Given the description of an element on the screen output the (x, y) to click on. 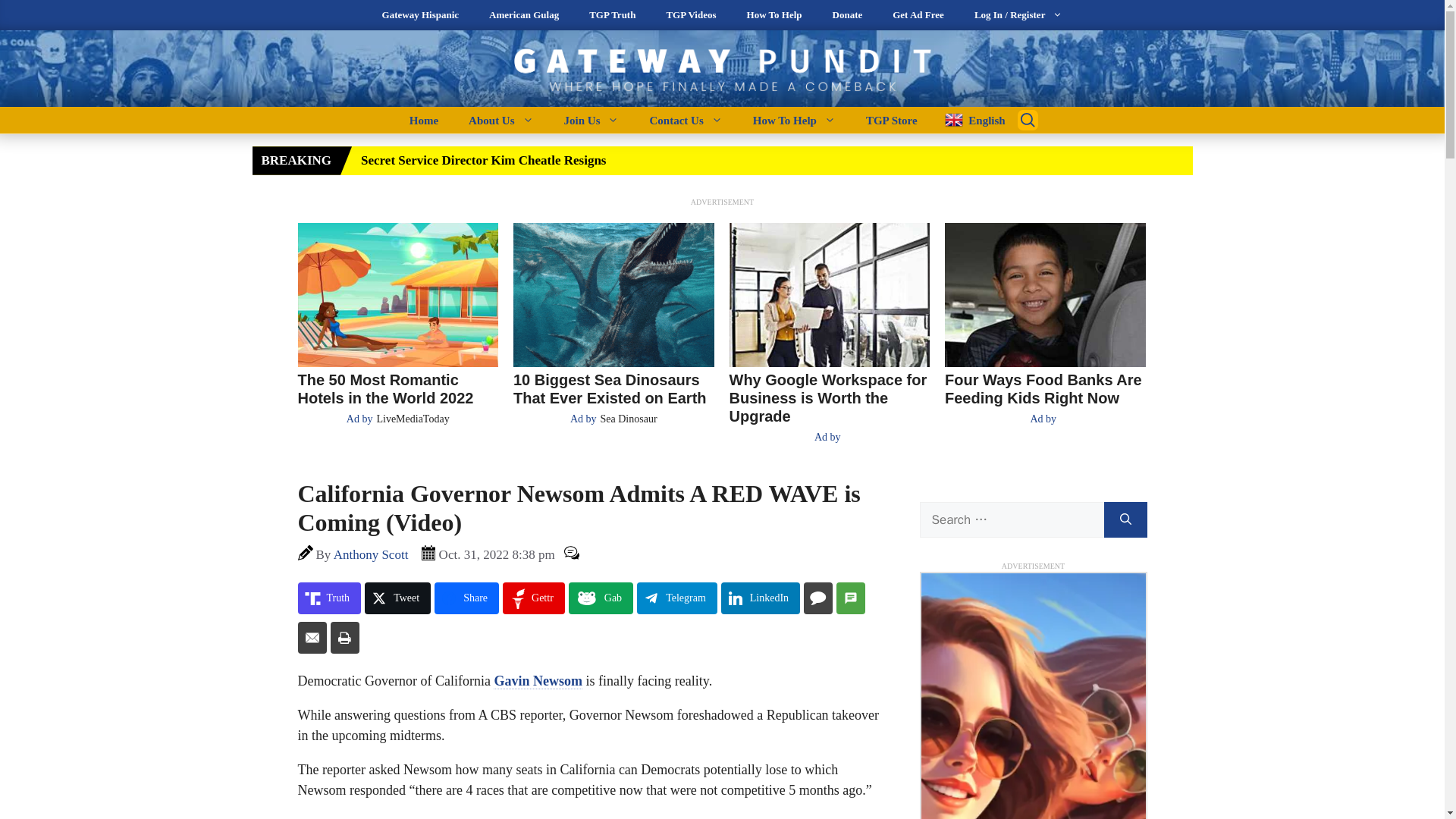
Share on Gettr (533, 598)
Contact Us (684, 120)
Home (423, 120)
TGP Videos (690, 15)
How To Help (774, 15)
Share on LinkedIn (759, 598)
American Gulag (523, 15)
TGP Truth (611, 15)
English (969, 120)
Get Ad Free (918, 15)
Gateway Hispanic (420, 15)
TGP Store (891, 120)
View all posts by Anthony Scott (371, 554)
Donate (846, 15)
